Given the description of an element on the screen output the (x, y) to click on. 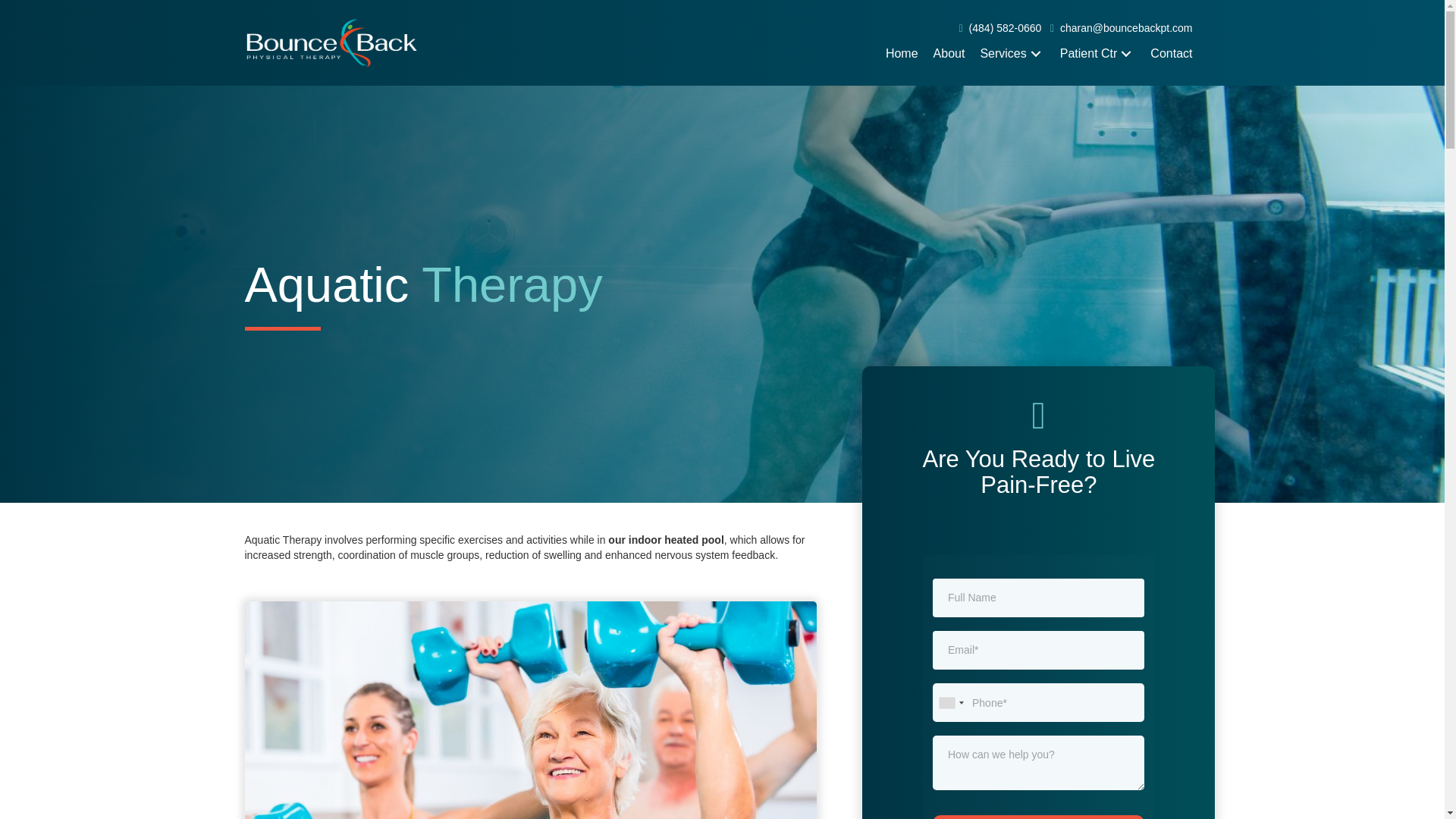
About (949, 53)
aquatic therapy group session (530, 710)
Contact (1170, 53)
Services (1011, 53)
Patient Ctr (1097, 53)
Aquatic Therapy (1038, 666)
bouncebackwhite (335, 42)
Home (901, 53)
